Given the description of an element on the screen output the (x, y) to click on. 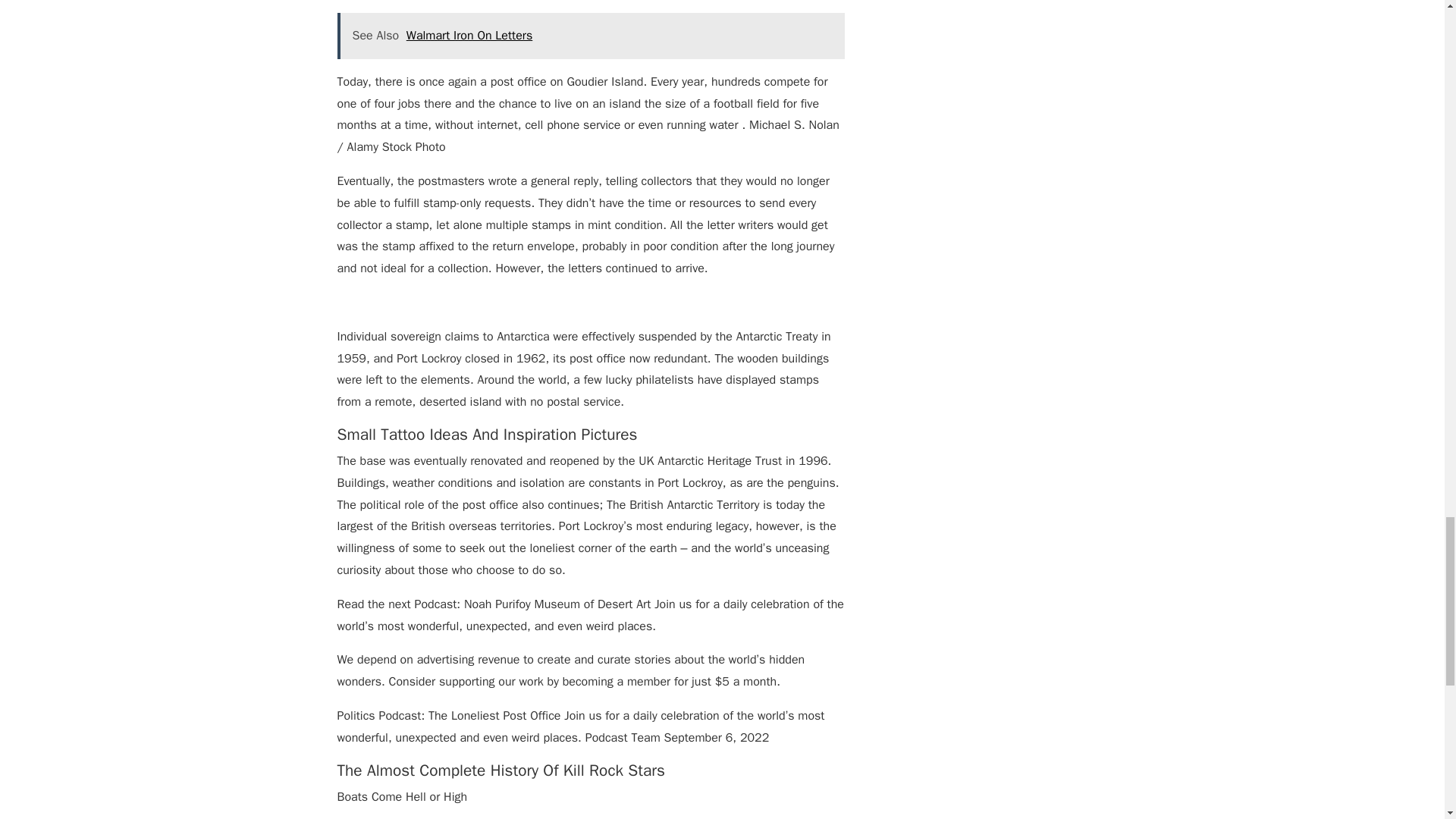
See Also  Walmart Iron On Letters (590, 35)
